Given the description of an element on the screen output the (x, y) to click on. 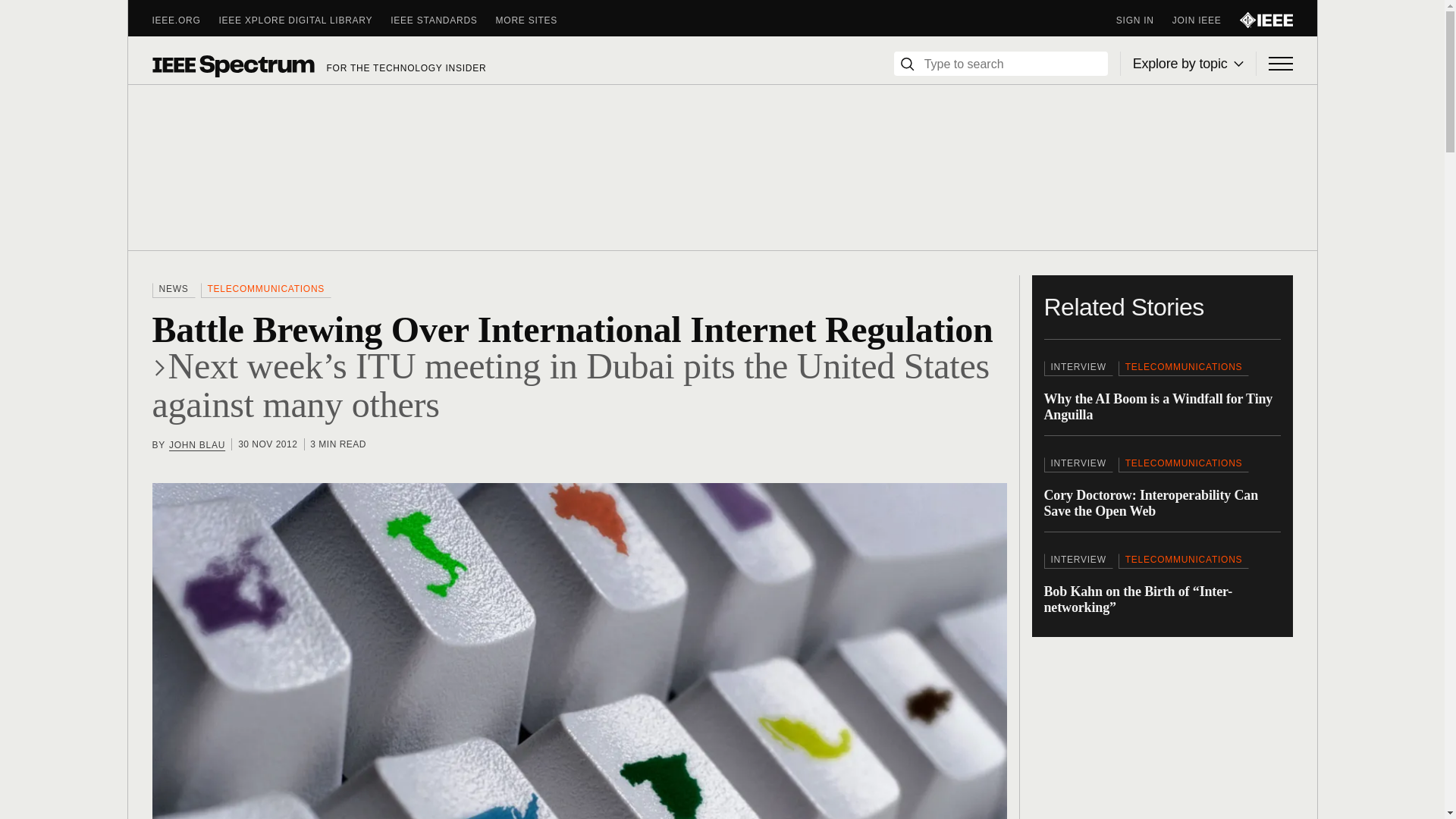
Spectrum Logo (232, 64)
MORE SITES (536, 20)
IEEE STANDARDS (442, 20)
JOIN IEEE (1206, 20)
IEEE.ORG (184, 20)
SIGN IN (1144, 20)
Search (907, 63)
IEEE XPLORE DIGITAL LIBRARY (305, 20)
